Given the description of an element on the screen output the (x, y) to click on. 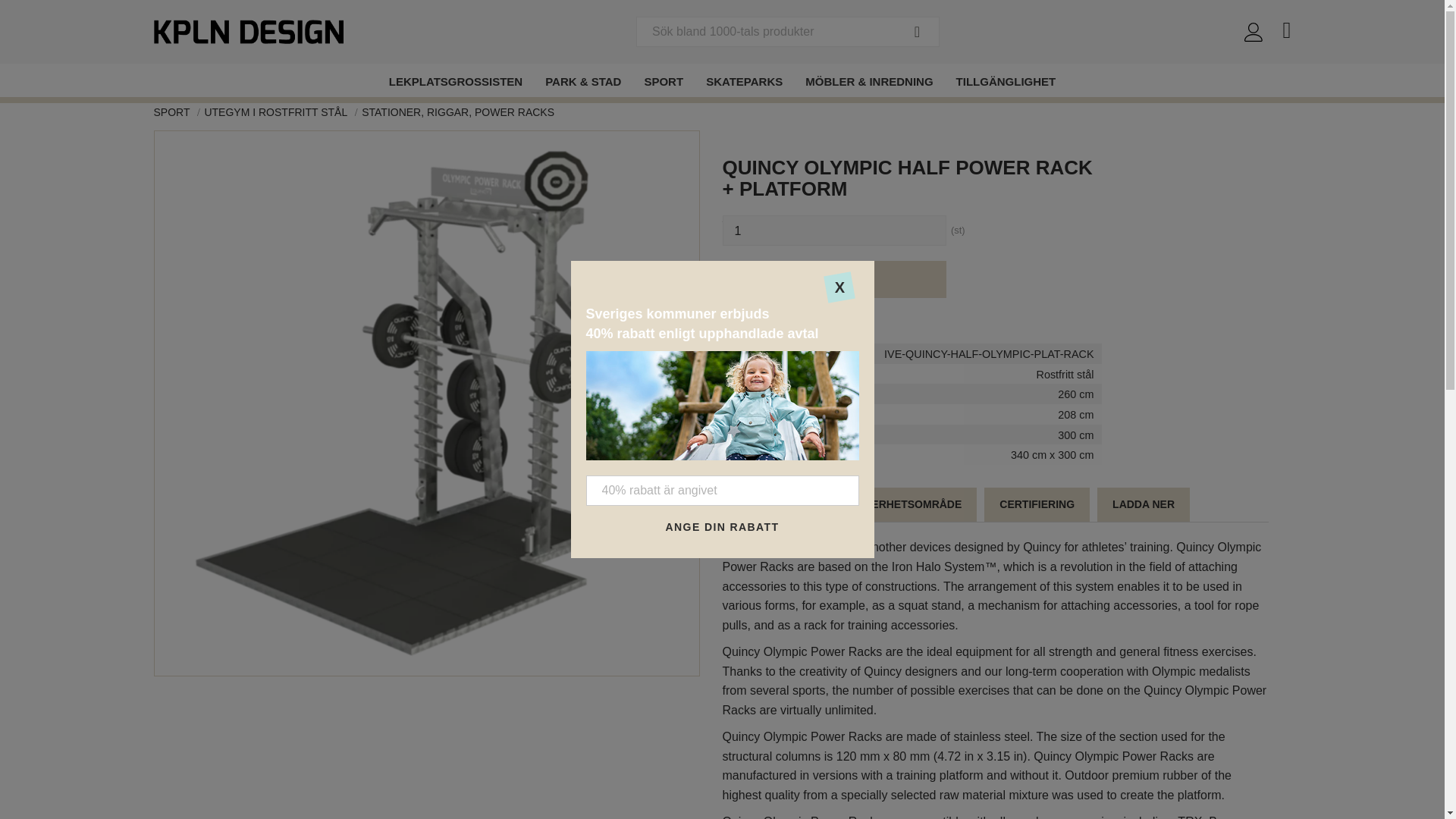
Lekplatsgrossisten (455, 80)
LADDA NER (1143, 504)
Skateparks (743, 80)
STATIONER, RIGGAR, POWER RACKS (457, 111)
BESKRIVNING (773, 504)
1 (833, 230)
CERTIFIERING (1036, 504)
SKATEPARKS (743, 80)
LEKPLATSGROSSISTEN (455, 80)
Sport (662, 80)
SPORT (172, 111)
SPORT (662, 80)
